Given the description of an element on the screen output the (x, y) to click on. 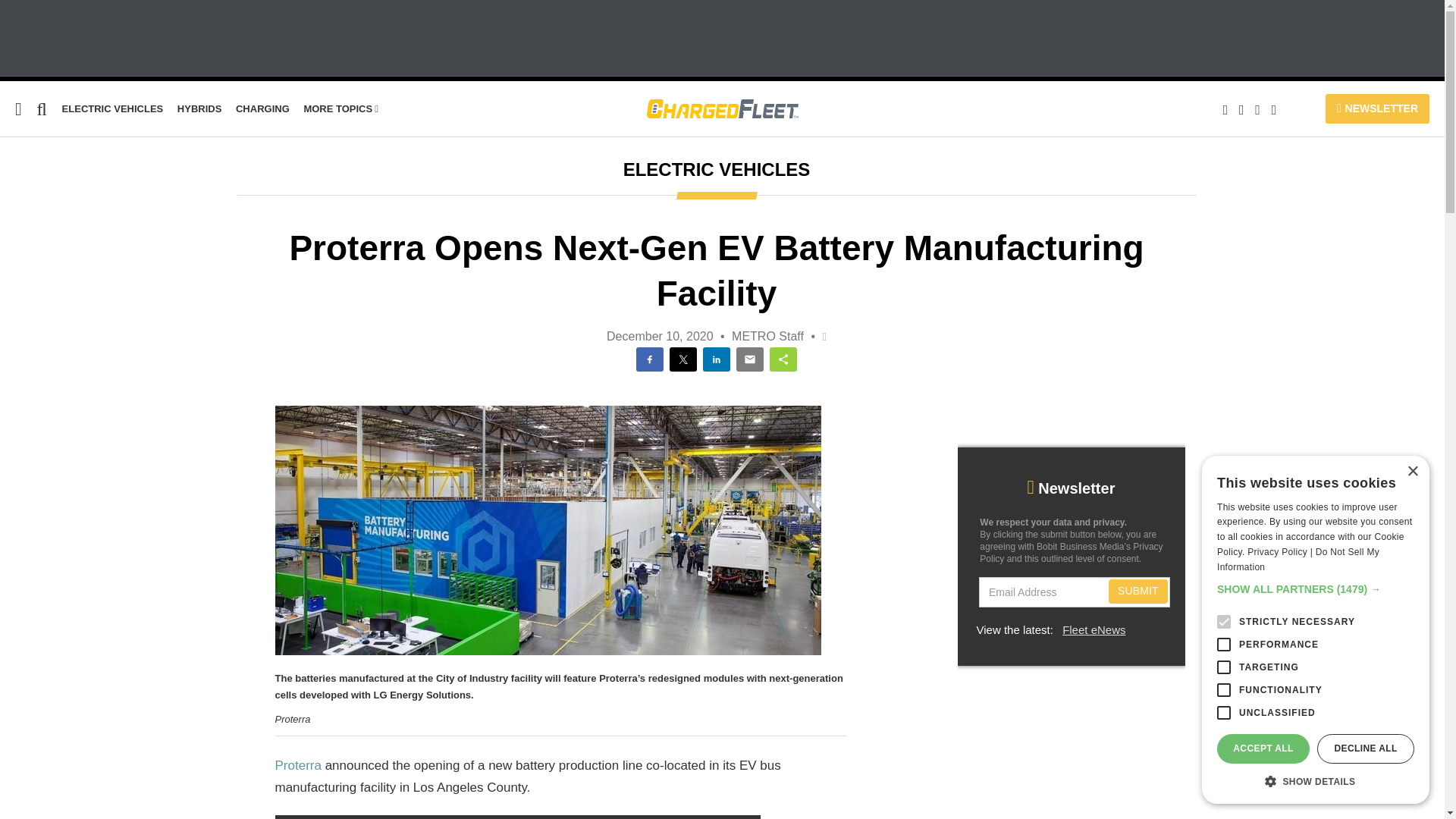
Charging (262, 108)
Electric Vehicles (48, 206)
Electric Vehicles (112, 108)
HYBRIDS (199, 108)
Electric Vehicles (48, 206)
Charging (26, 236)
MORE TOPICS (340, 108)
Charging (26, 236)
Suppliers (27, 264)
CHARGING (262, 108)
Suppliers (27, 264)
ELECTRIC VEHICLES (112, 108)
Hybrids (199, 108)
